Given the description of an element on the screen output the (x, y) to click on. 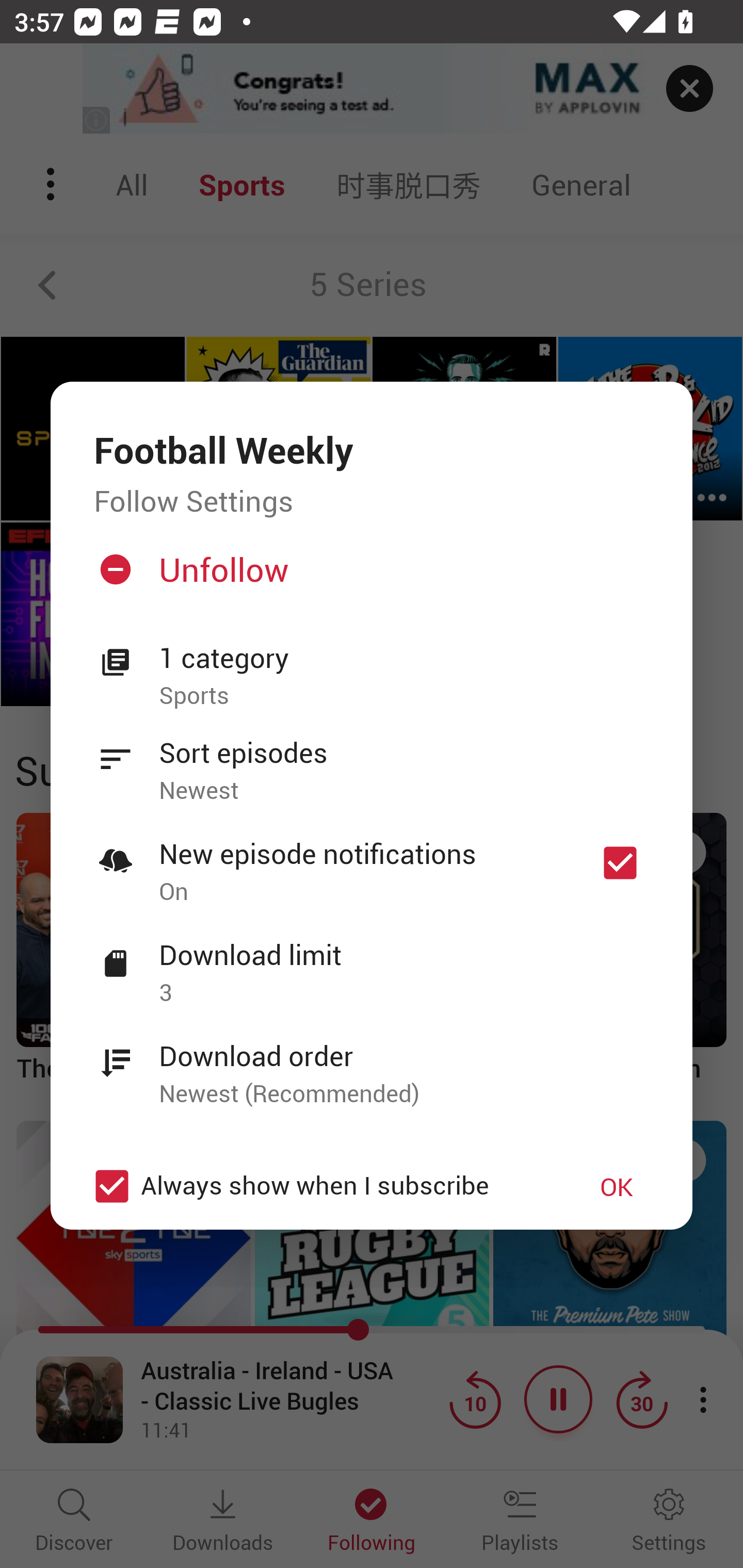
Unfollow (369, 576)
1 category (404, 658)
Sports (404, 696)
Sort episodes Newest (371, 760)
New episode notifications (620, 863)
Download limit 3 (371, 962)
Download order Newest (Recommended) (371, 1063)
OK (616, 1186)
Always show when I subscribe (320, 1186)
